Given the description of an element on the screen output the (x, y) to click on. 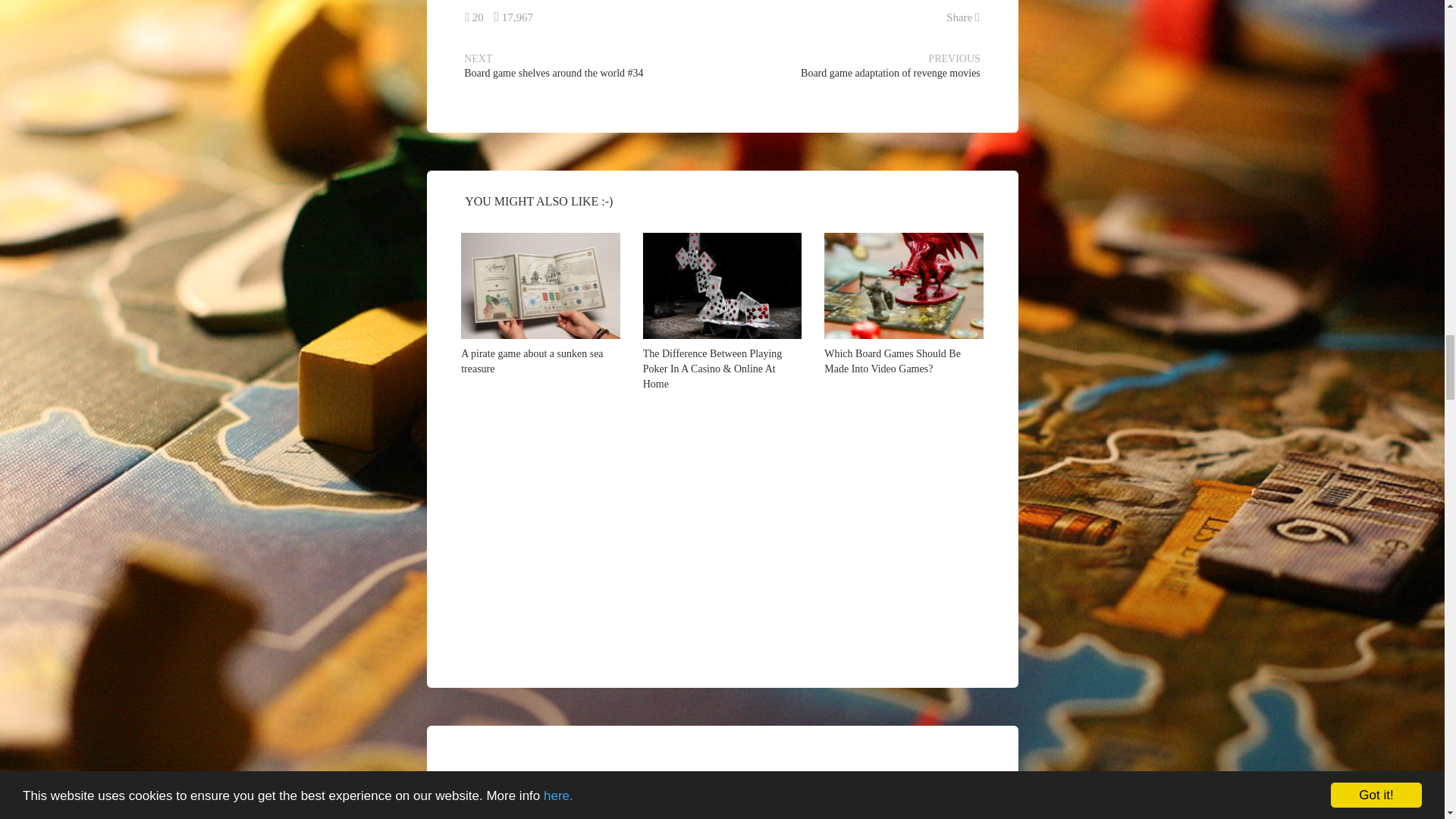
A pirate game about a sunken sea treasure (531, 361)
A pirate game about a sunken sea treasure (531, 361)
Which Board Games Should Be Made Into Video Games? (892, 361)
Which Board Games Should Be Made Into Video Games? (892, 361)
20 (473, 17)
A pirate game about a sunken sea treasure (540, 285)
cheapest essay online (582, 816)
Share (962, 17)
Which Board Games Should Be Made Into Video Games? (904, 285)
Share 'Kill the King' (962, 17)
